Given the description of an element on the screen output the (x, y) to click on. 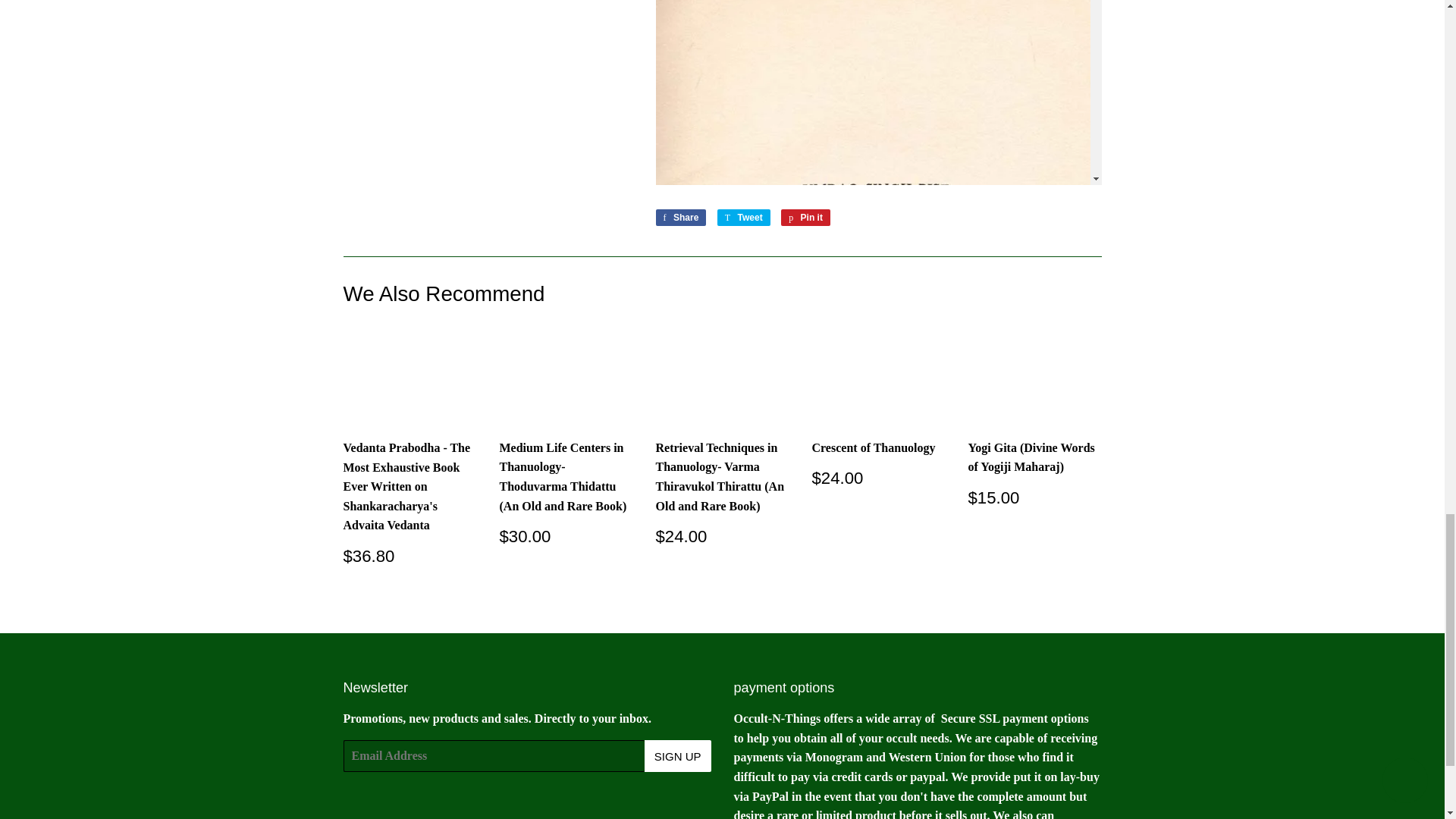
Pin on Pinterest (804, 217)
Share on Facebook (680, 217)
Tweet on Twitter (804, 217)
